Given the description of an element on the screen output the (x, y) to click on. 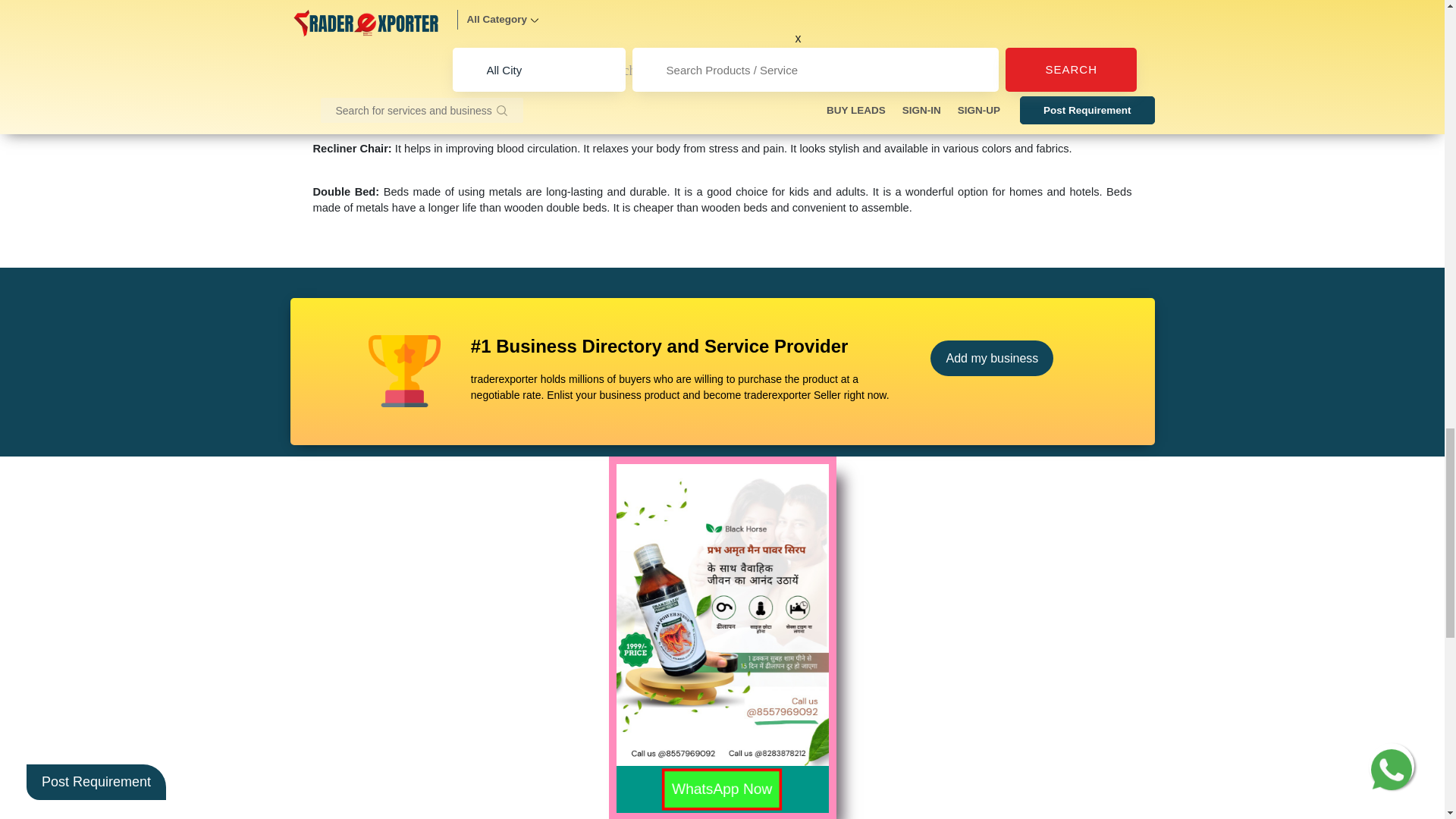
WhatsApp Now (699, 781)
